Given the description of an element on the screen output the (x, y) to click on. 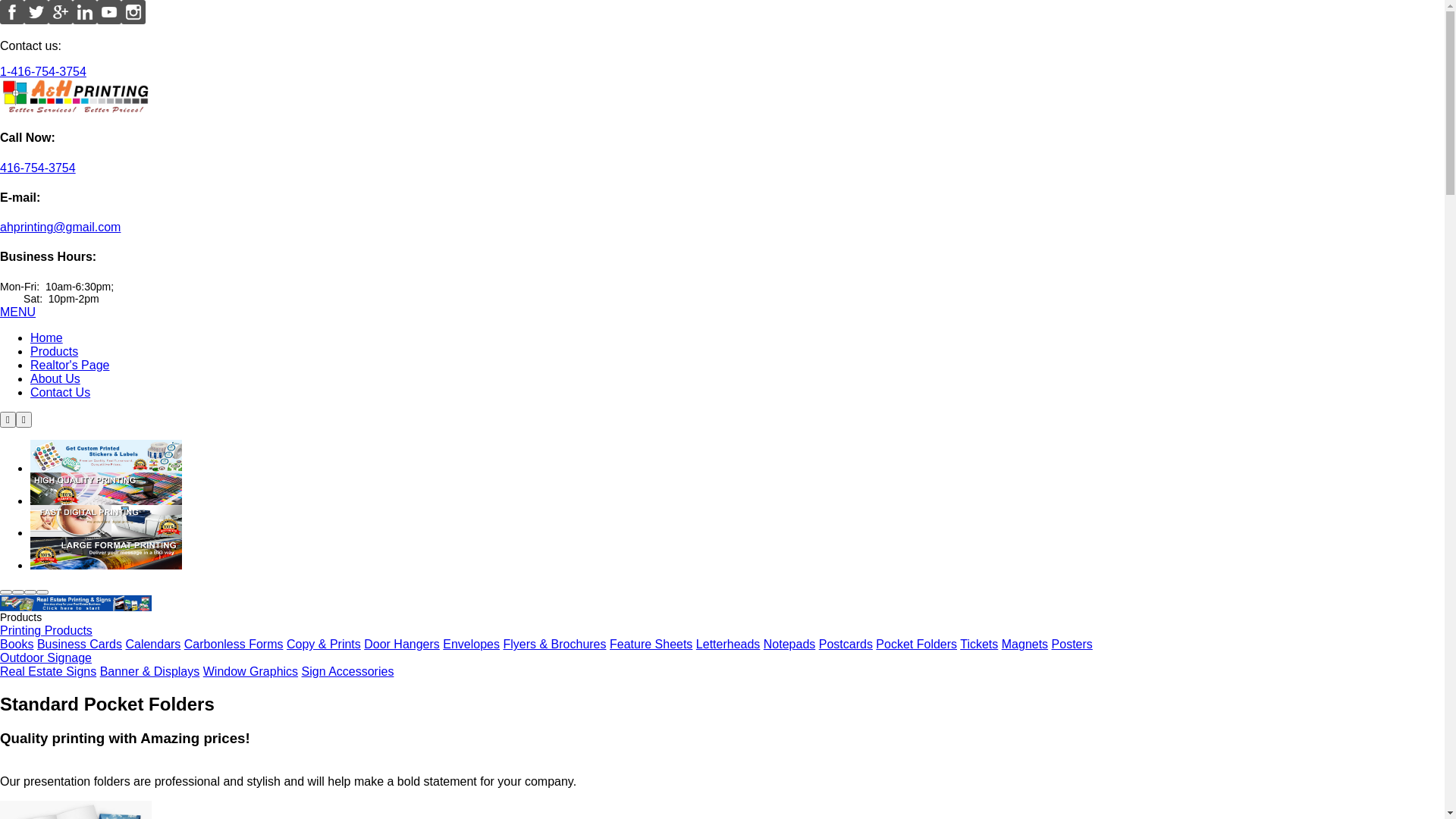
Realtor's Page Element type: text (69, 364)
1-416-754-3754 Element type: text (43, 71)
About Us Element type: text (55, 378)
Real Estate Signs Element type: text (48, 671)
Products Element type: text (54, 351)
Carbonless Forms Element type: text (233, 643)
Calendars Element type: text (152, 643)
Door Hangers Element type: text (401, 643)
Pocket Folders Element type: text (916, 643)
Copy & Prints Element type: text (323, 643)
Books Element type: text (16, 643)
Outdoor Signage Element type: text (45, 657)
Banner & Displays Element type: text (150, 671)
Printing Products Element type: text (46, 630)
Letterheads Element type: text (728, 643)
Flyers & Brochures Element type: text (553, 643)
Envelopes Element type: text (470, 643)
Postcards Element type: text (845, 643)
Tickets Element type: text (978, 643)
Business Cards Element type: text (79, 643)
Magnets Element type: text (1024, 643)
Sign Accessories Element type: text (347, 671)
MENU Element type: text (17, 311)
416-754-3754 Element type: text (37, 167)
Feature Sheets Element type: text (650, 643)
Home Element type: text (46, 337)
Posters Element type: text (1071, 643)
ahprinting@gmail.com Element type: text (60, 226)
Notepads Element type: text (789, 643)
Contact Us Element type: text (60, 391)
Window Graphics Element type: text (250, 671)
